Given the description of an element on the screen output the (x, y) to click on. 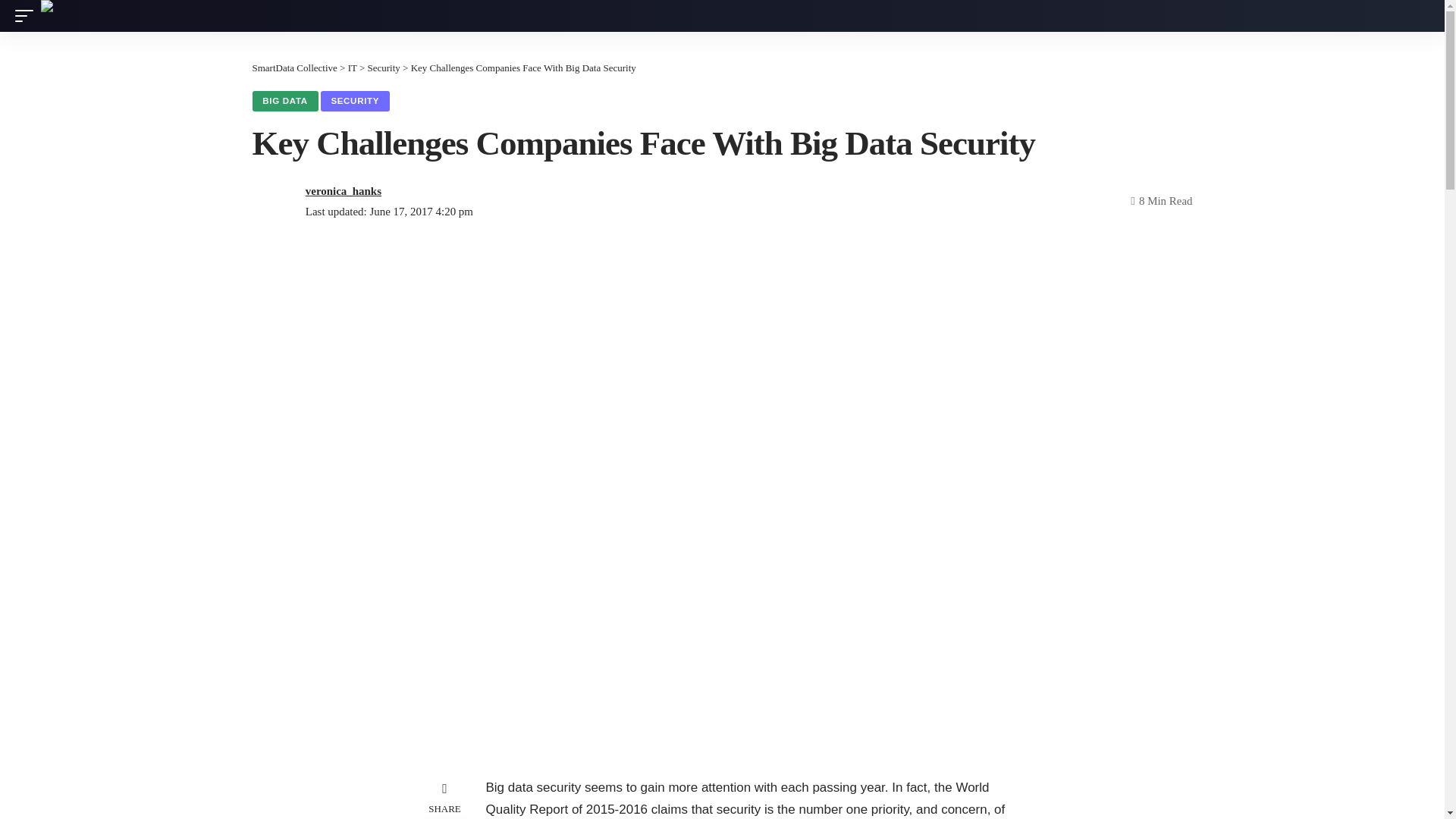
Go to the Security Category archives. (384, 67)
Security (384, 67)
SmartData Collective (234, 15)
Go to SmartData Collective. (293, 67)
BIG DATA (284, 101)
SECURITY (355, 101)
SmartData Collective (293, 67)
